Given the description of an element on the screen output the (x, y) to click on. 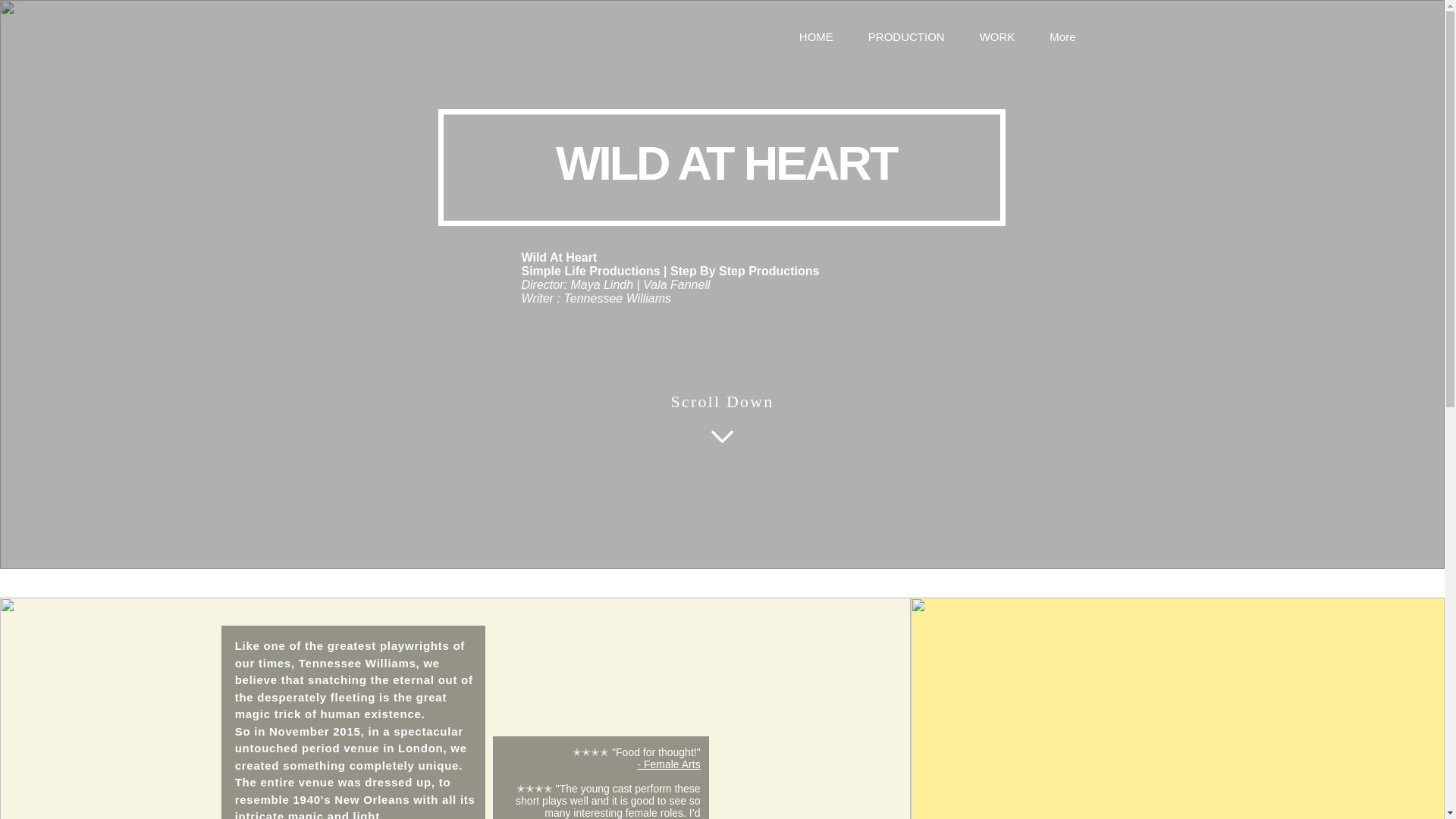
- Female Arts (668, 764)
PRODUCTION (906, 39)
HOME (815, 39)
